Given the description of an element on the screen output the (x, y) to click on. 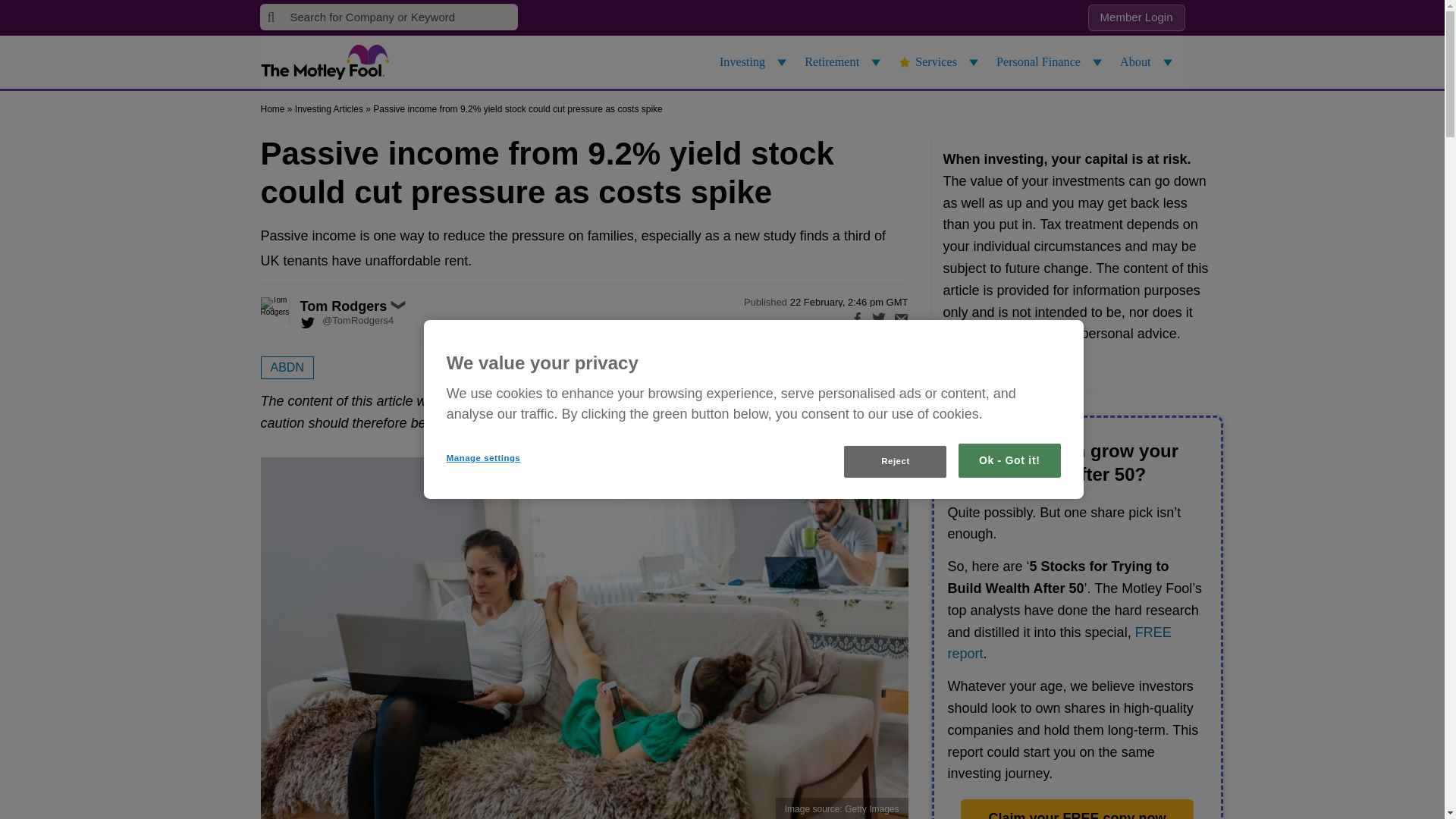
Tom Rodgers (290, 311)
Investing (755, 62)
Services (941, 62)
Member Login (1136, 17)
See more articles about ABDN (287, 367)
Follow on Twitter (346, 322)
Retirement (844, 62)
